Given the description of an element on the screen output the (x, y) to click on. 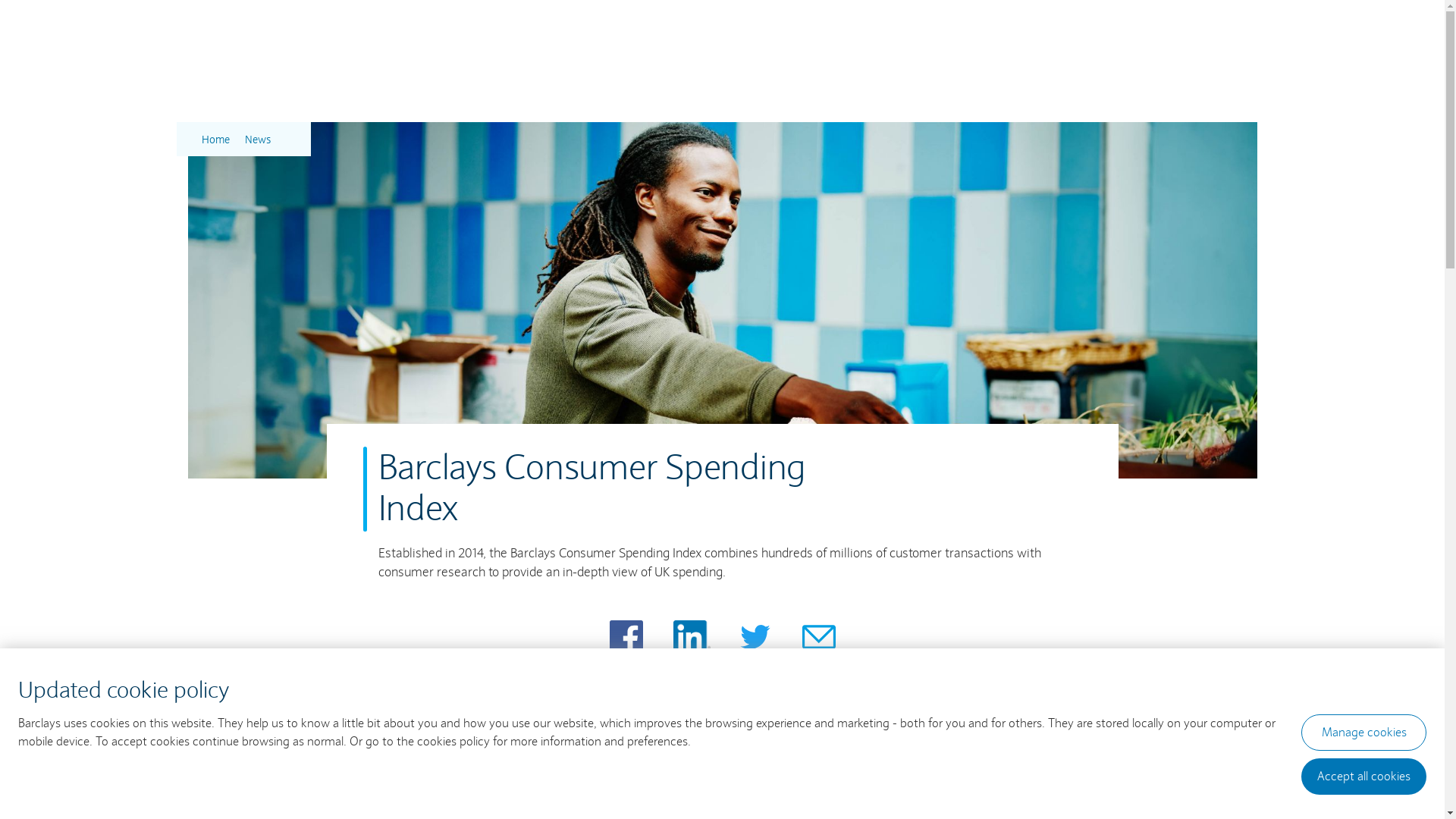
Home Element type: text (215, 138)
Share page via LinkedIn Element type: hover (692, 636)
Share page via Twitter Element type: hover (754, 636)
Share page via Email Element type: hover (818, 636)
Share page via Facebook Element type: hover (626, 636)
News Element type: text (256, 138)
